Given the description of an element on the screen output the (x, y) to click on. 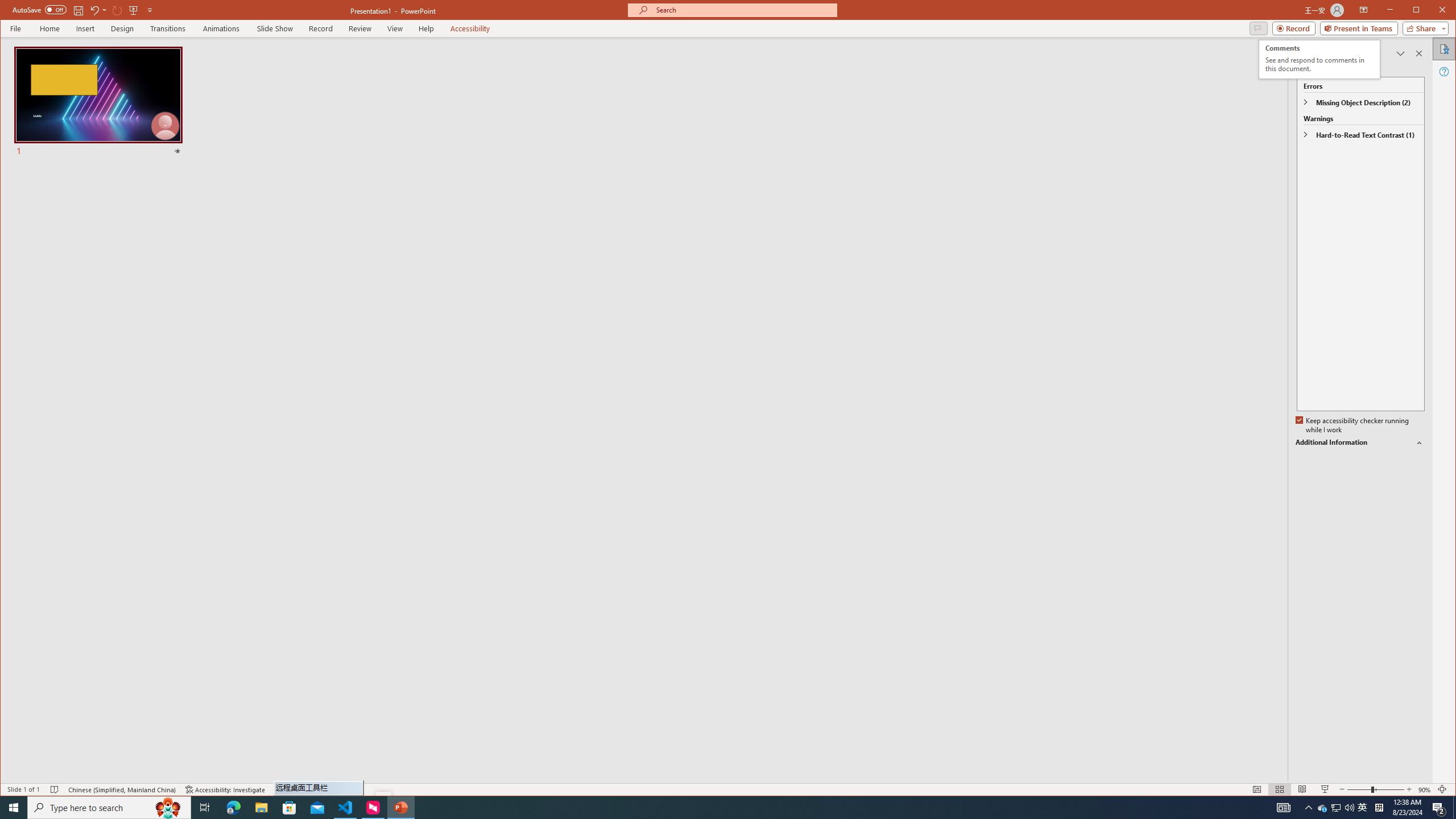
Search highlights icon opens search home window (167, 807)
